Given the description of an element on the screen output the (x, y) to click on. 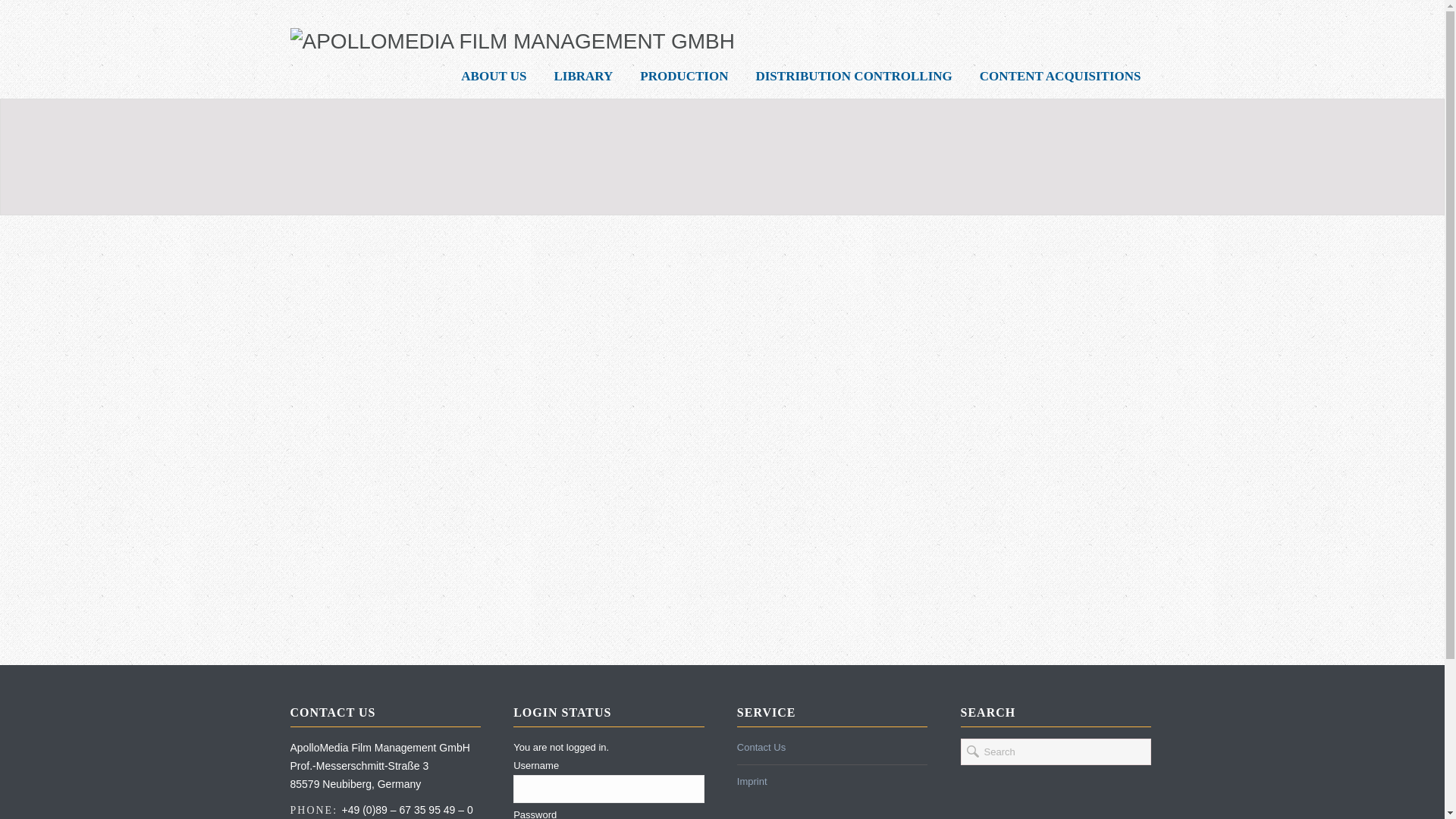
ABOUT US (493, 76)
ApolloMedia Film Management GmbH (511, 41)
Contact Us (761, 747)
Imprint (751, 781)
DISTRIBUTION CONTROLLING (853, 76)
LIBRARY (583, 76)
CONTENT ACQUISITIONS (1060, 76)
PRODUCTION (683, 76)
Log In (1015, 607)
